Given the description of an element on the screen output the (x, y) to click on. 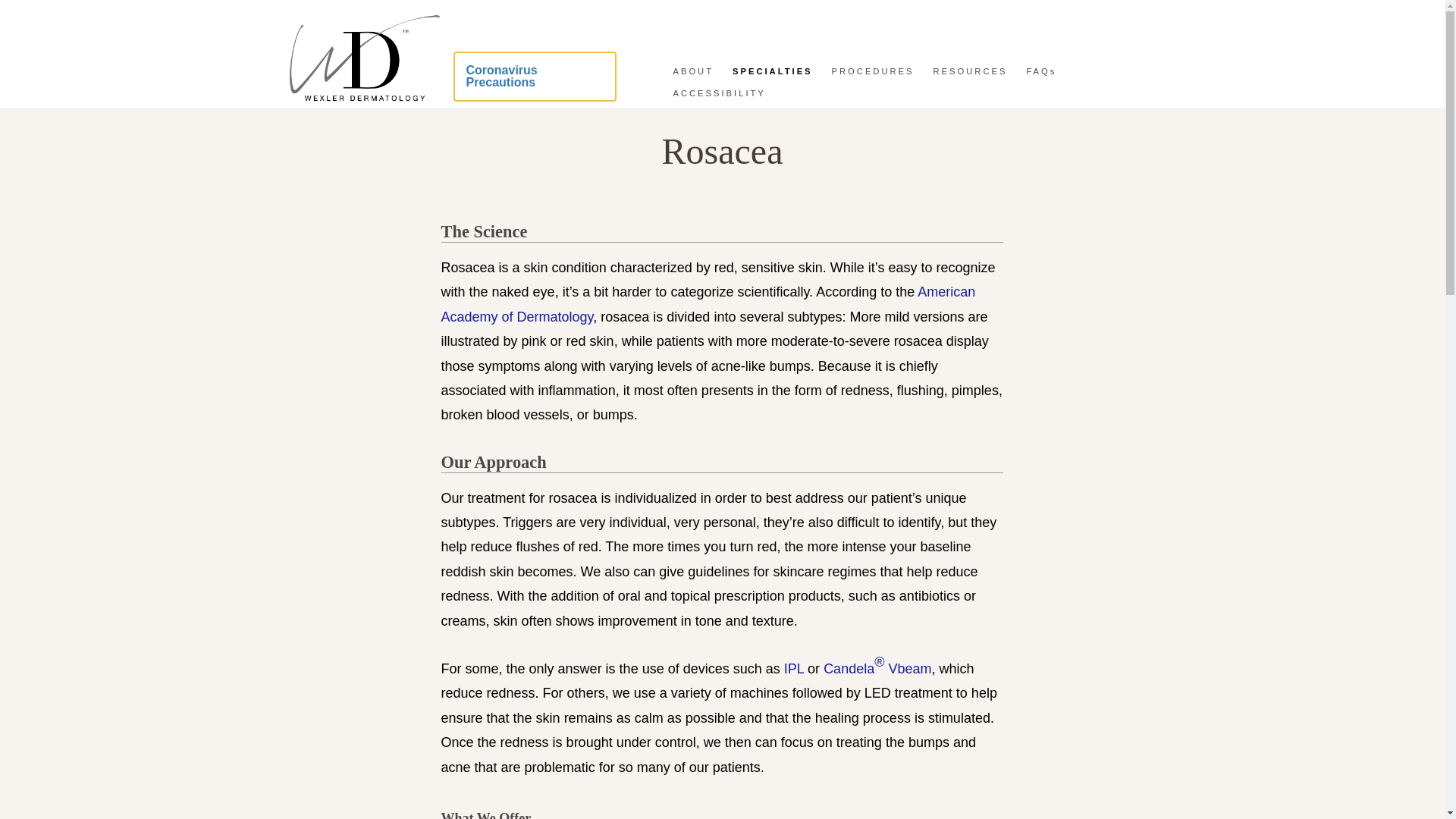
PROCEDURES (872, 71)
Wexler Dermatology (364, 97)
ABOUT (692, 71)
Coronavirus Precautions (533, 76)
SPECIALTIES (772, 71)
